Given the description of an element on the screen output the (x, y) to click on. 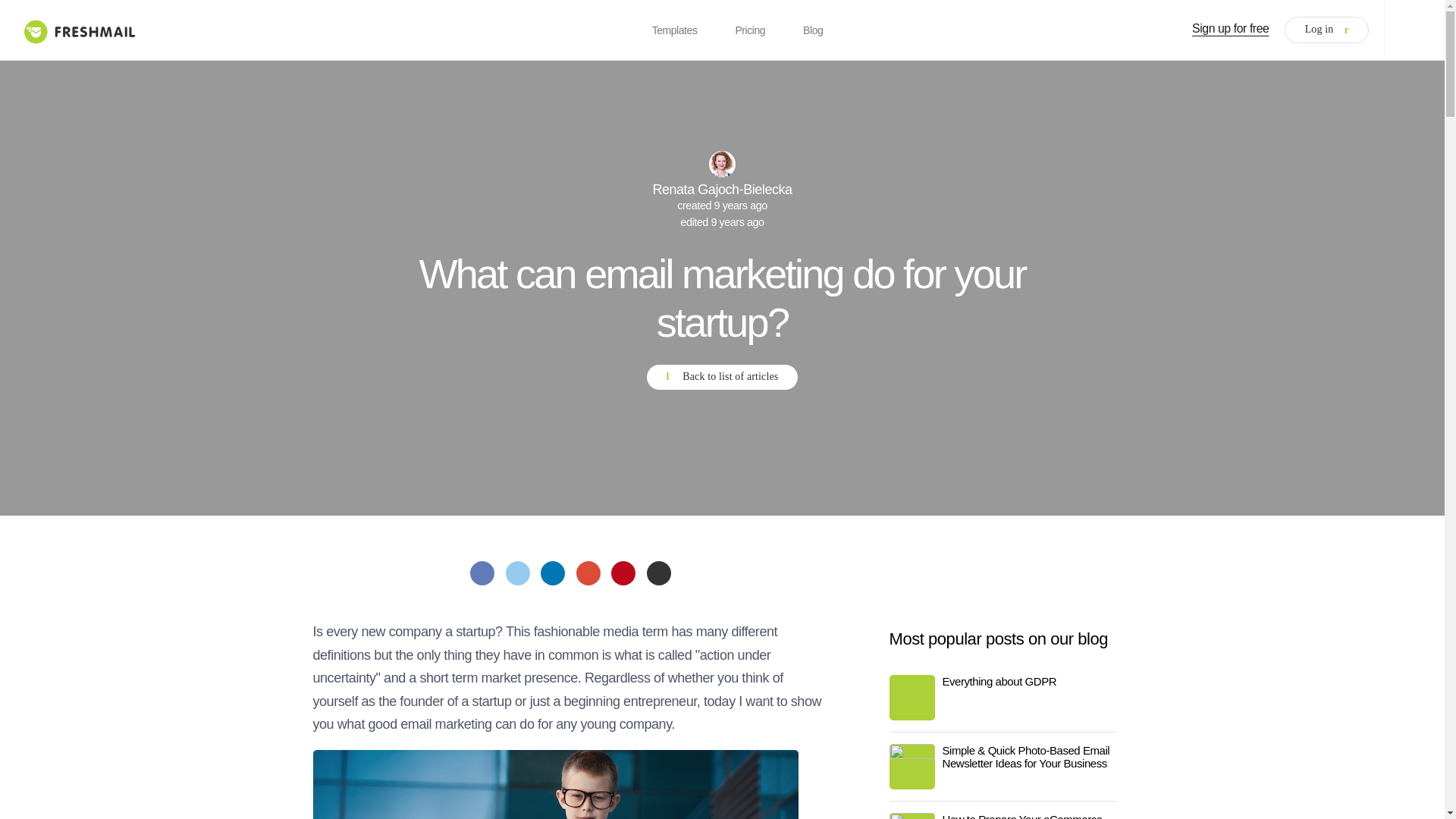
Sign up for free (1230, 29)
Back to list of articles (721, 377)
Linkedin (552, 573)
Log in (1326, 29)
Templates (674, 30)
Buffer (658, 573)
Everything about GDPR (1002, 680)
Twitter (517, 573)
How to Prepare Your eCommerce for The Christmas Rush (1002, 816)
Facebook (482, 573)
